Given the description of an element on the screen output the (x, y) to click on. 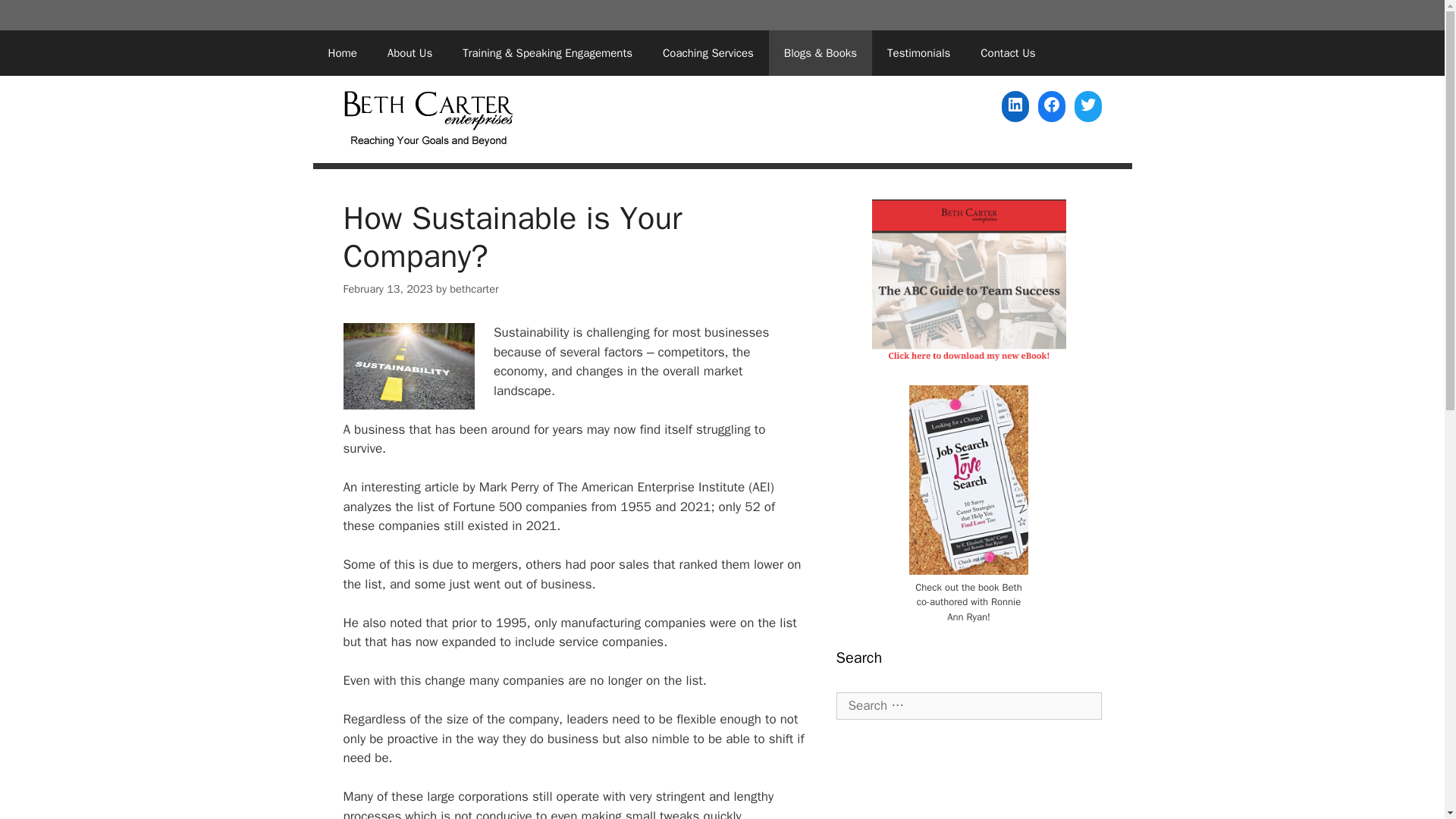
Search (35, 18)
About Us (409, 53)
Home (342, 53)
Coaching Services (707, 53)
Contact Us (1007, 53)
Testimonials (918, 53)
Twitter (1087, 103)
bethcarter (473, 288)
Search for: (967, 705)
View all posts by bethcarter (473, 288)
LinkedIn (1014, 103)
Facebook (1050, 103)
